Given the description of an element on the screen output the (x, y) to click on. 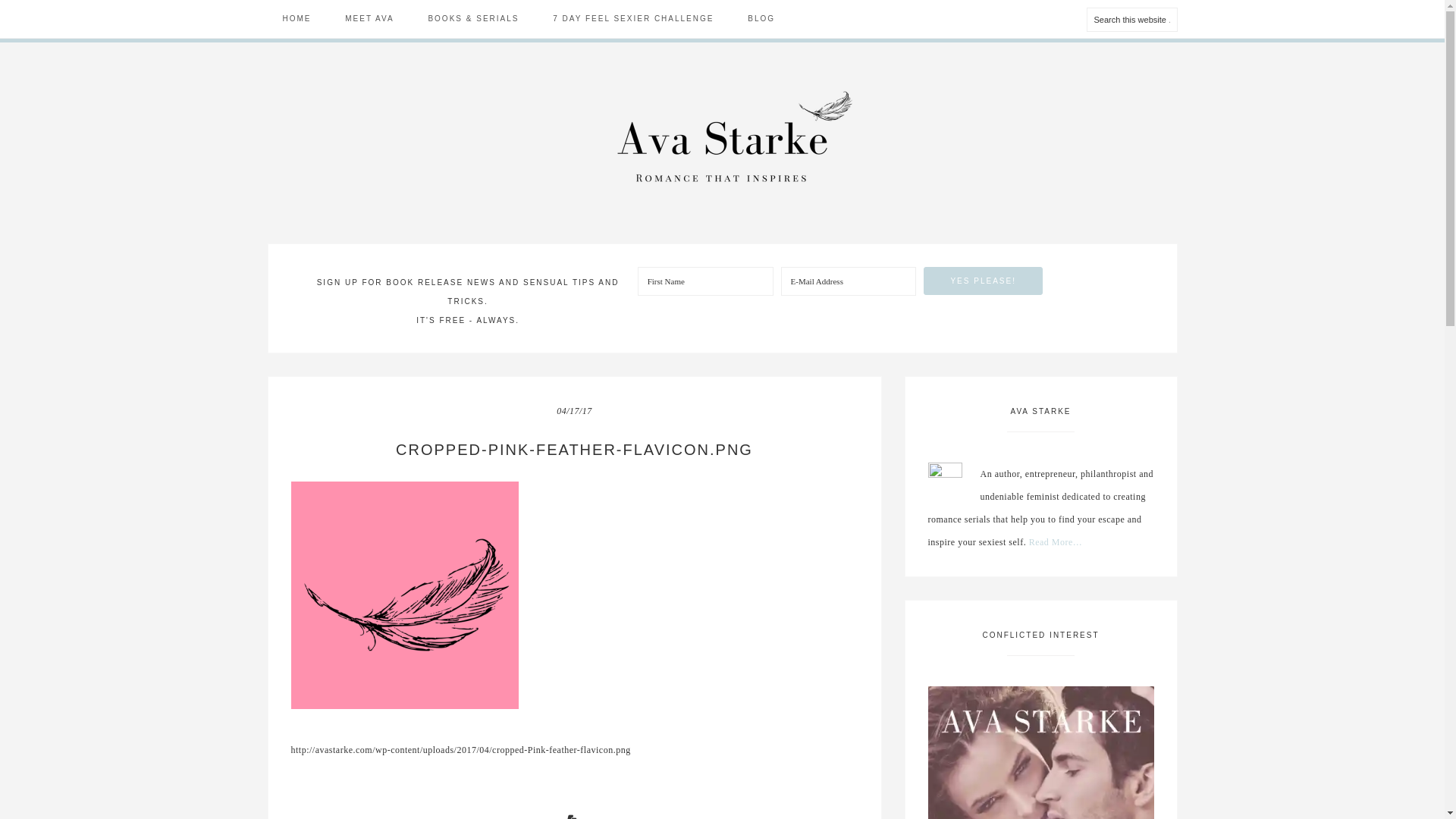
BLOG (761, 18)
Yes Please! (982, 280)
7 DAY FEEL SEXIER CHALLENGE (633, 18)
Yes Please! (982, 280)
Ava Starke (722, 133)
HOME (296, 18)
MEET AVA (369, 18)
